Given the description of an element on the screen output the (x, y) to click on. 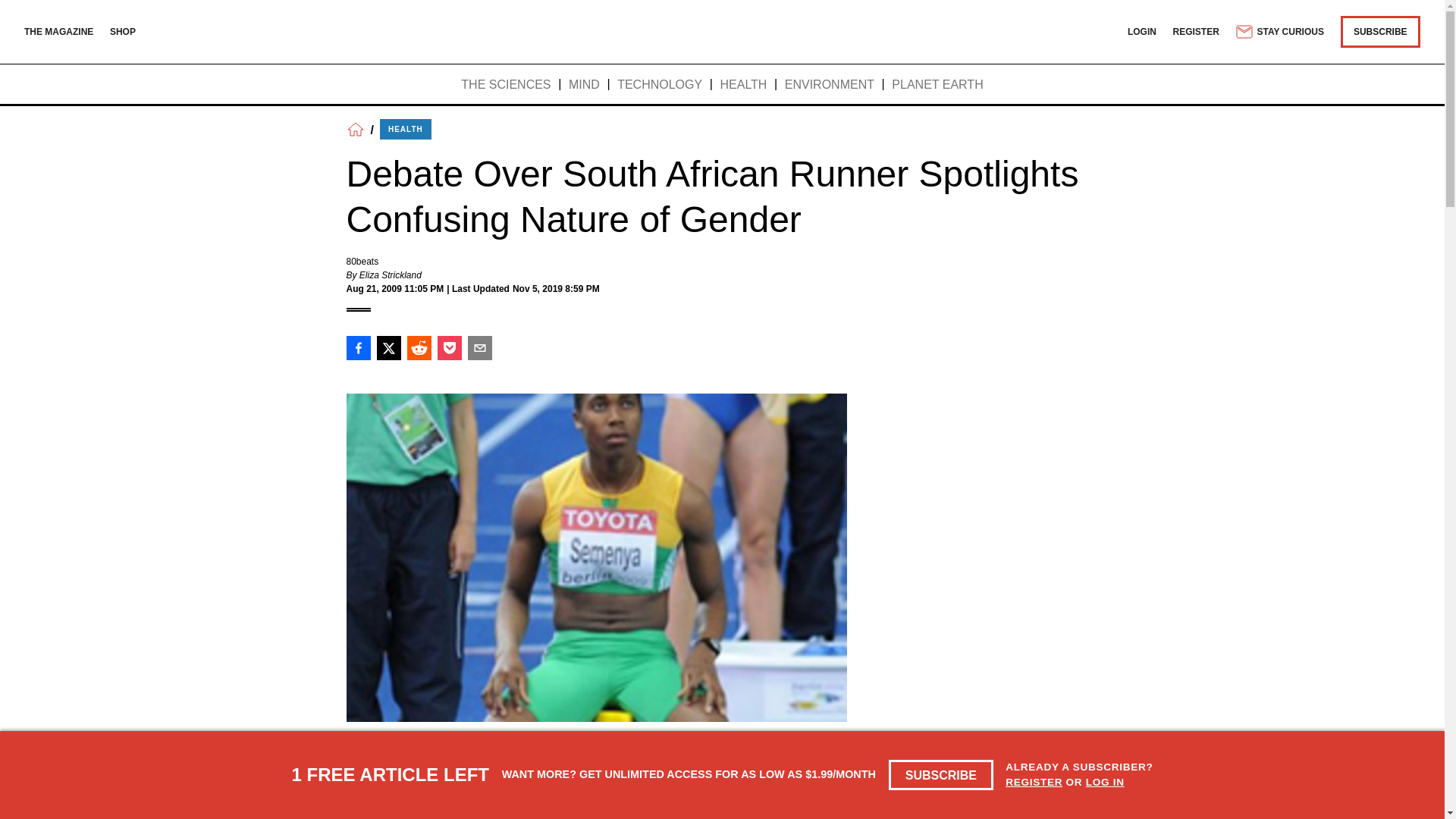
PLANET EARTH (936, 84)
REGISTER (1034, 781)
THE SCIENCES (505, 84)
80beats (362, 261)
SUBSCRIBE (1380, 31)
HEALTH (743, 84)
LOGIN (1141, 31)
HEALTH (405, 128)
SIGN UP (1063, 788)
LOG IN (1105, 781)
ENVIRONMENT (829, 84)
SUBSCRIBE (941, 775)
REGISTER (1196, 31)
TECHNOLOGY (659, 84)
SHOP (122, 31)
